Given the description of an element on the screen output the (x, y) to click on. 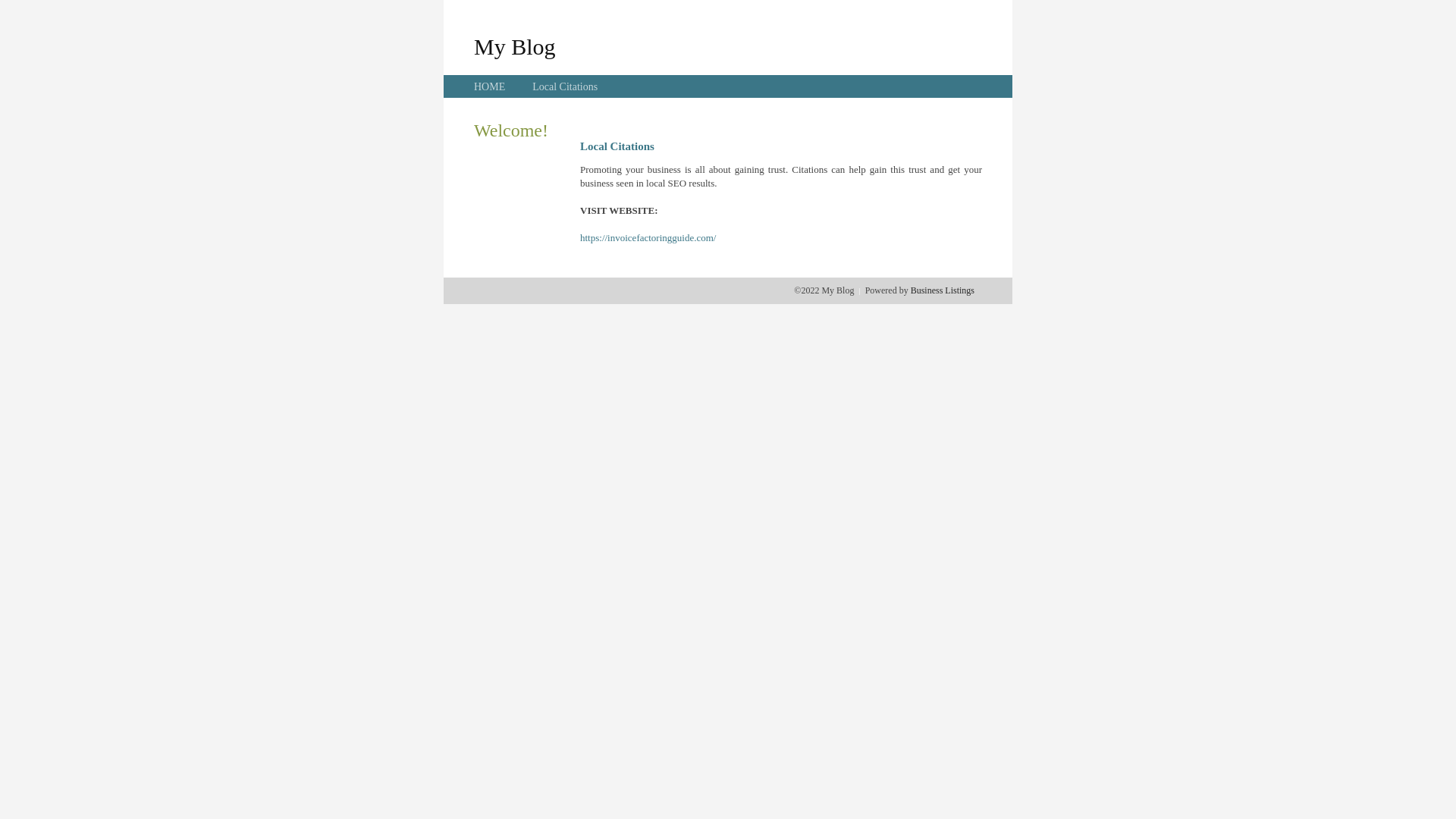
https://invoicefactoringguide.com/ Element type: text (647, 237)
HOME Element type: text (489, 86)
Business Listings Element type: text (942, 290)
My Blog Element type: text (514, 46)
Local Citations Element type: text (564, 86)
